Given the description of an element on the screen output the (x, y) to click on. 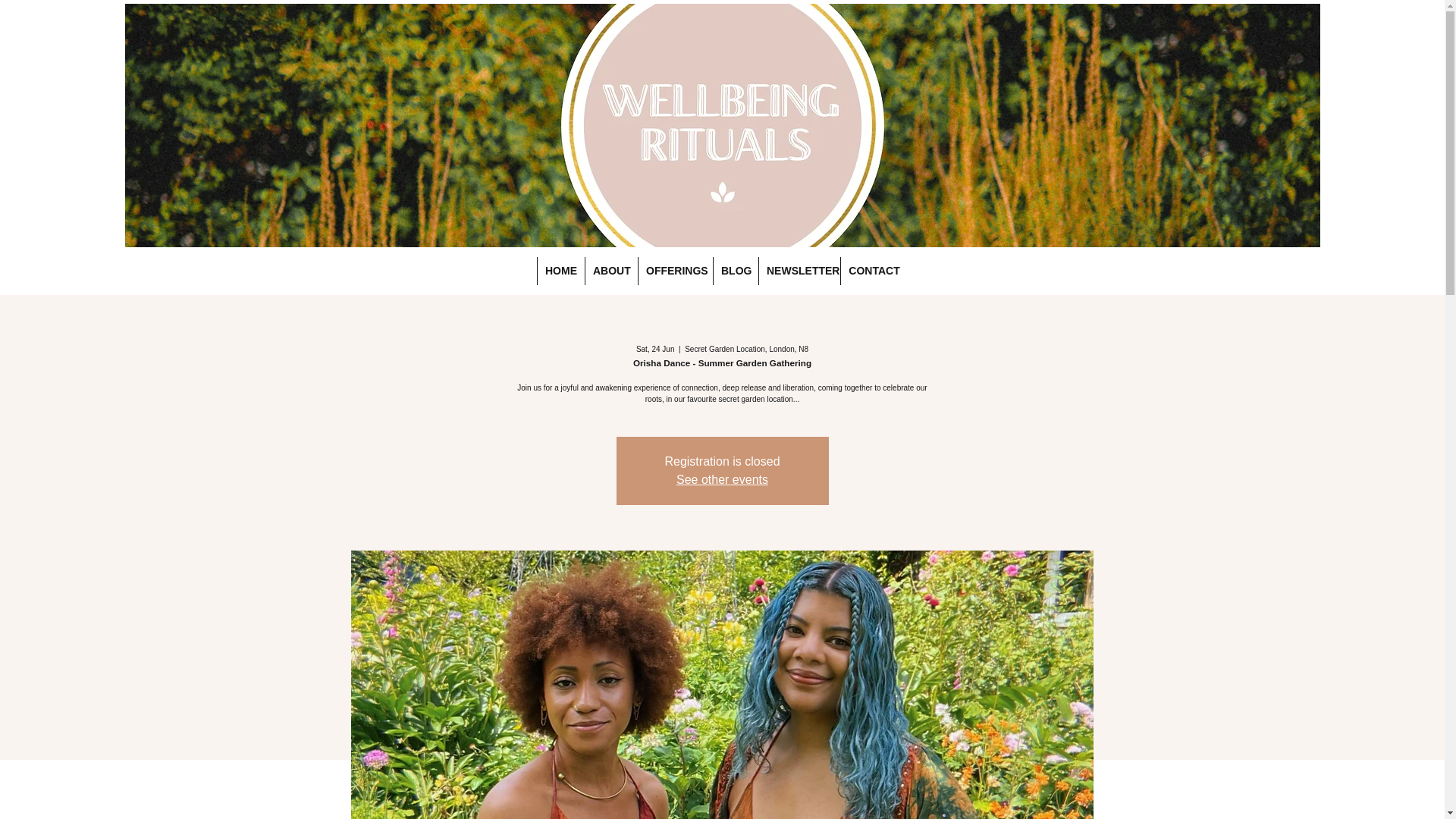
OFFERINGS (675, 271)
BLOG (735, 271)
See other events (722, 479)
ABOUT (611, 271)
CONTACT (873, 271)
HOME (561, 271)
NEWSLETTER (799, 271)
